Given the description of an element on the screen output the (x, y) to click on. 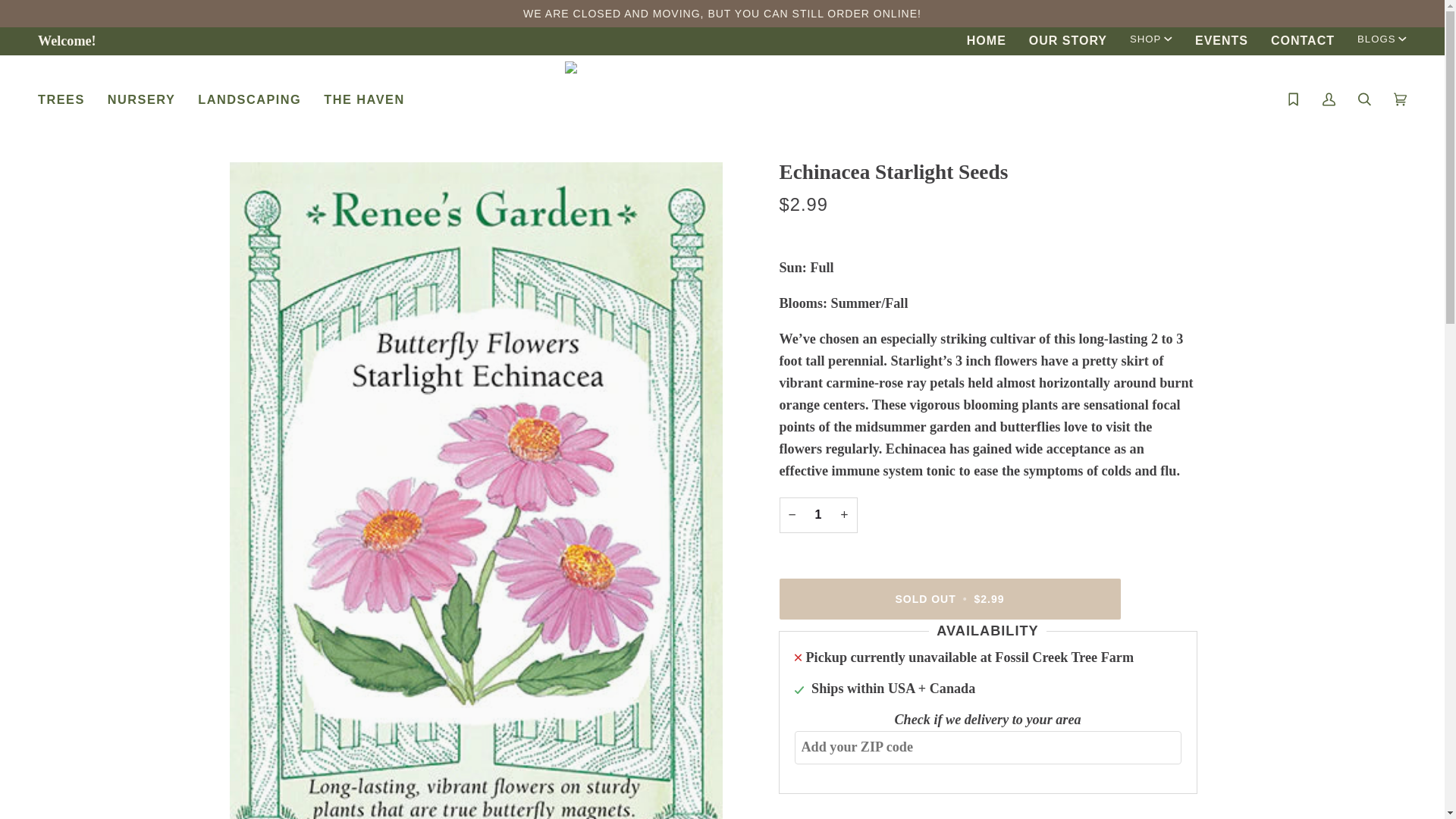
BLOGS (1381, 39)
EVENTS (1221, 40)
1 (817, 515)
HOME (986, 40)
NURSERY (141, 99)
CONTACT (1302, 40)
SHOP (1150, 39)
OUR STORY (1067, 40)
